Given the description of an element on the screen output the (x, y) to click on. 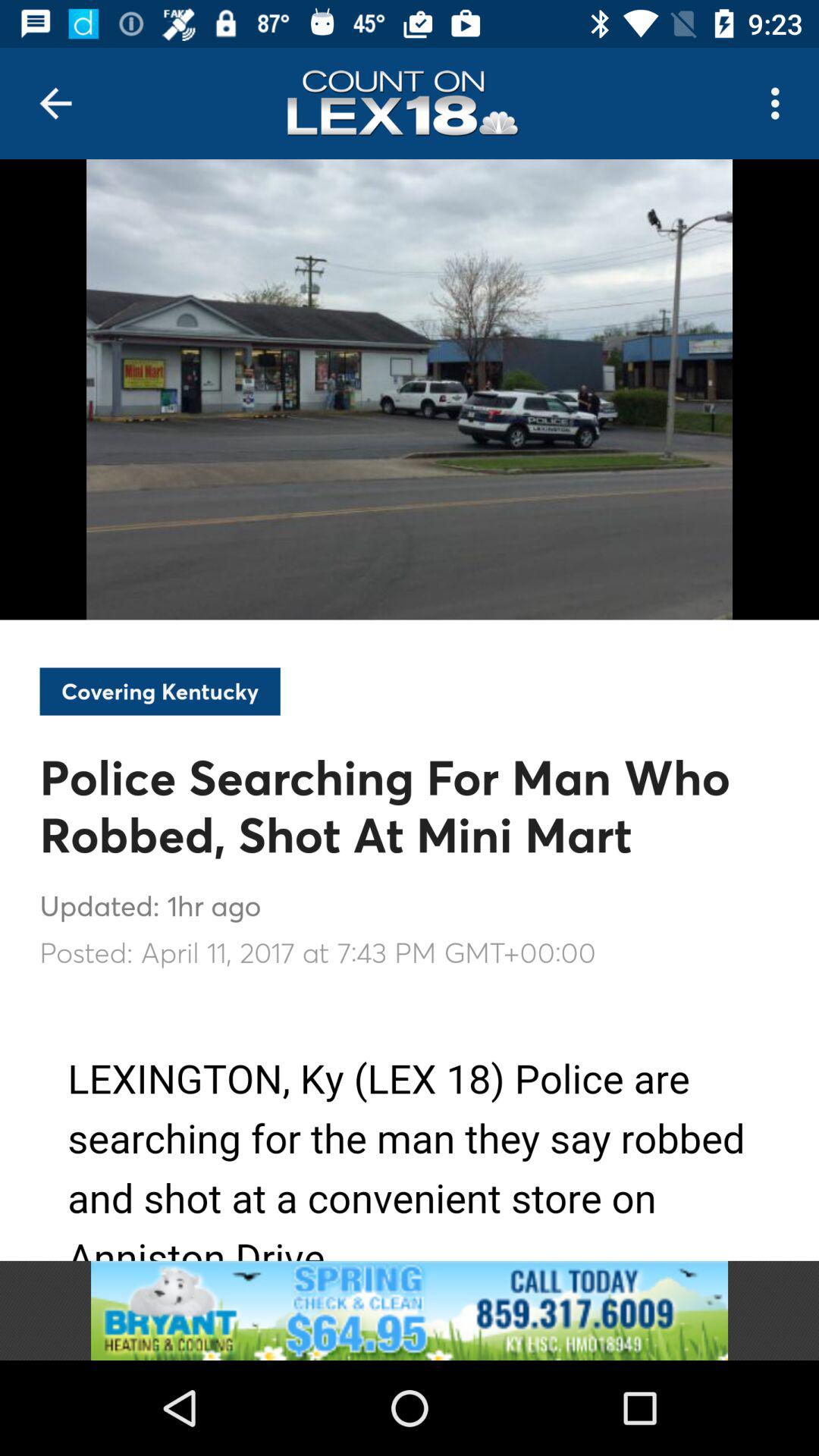
link to the advertisement (409, 1310)
